Given the description of an element on the screen output the (x, y) to click on. 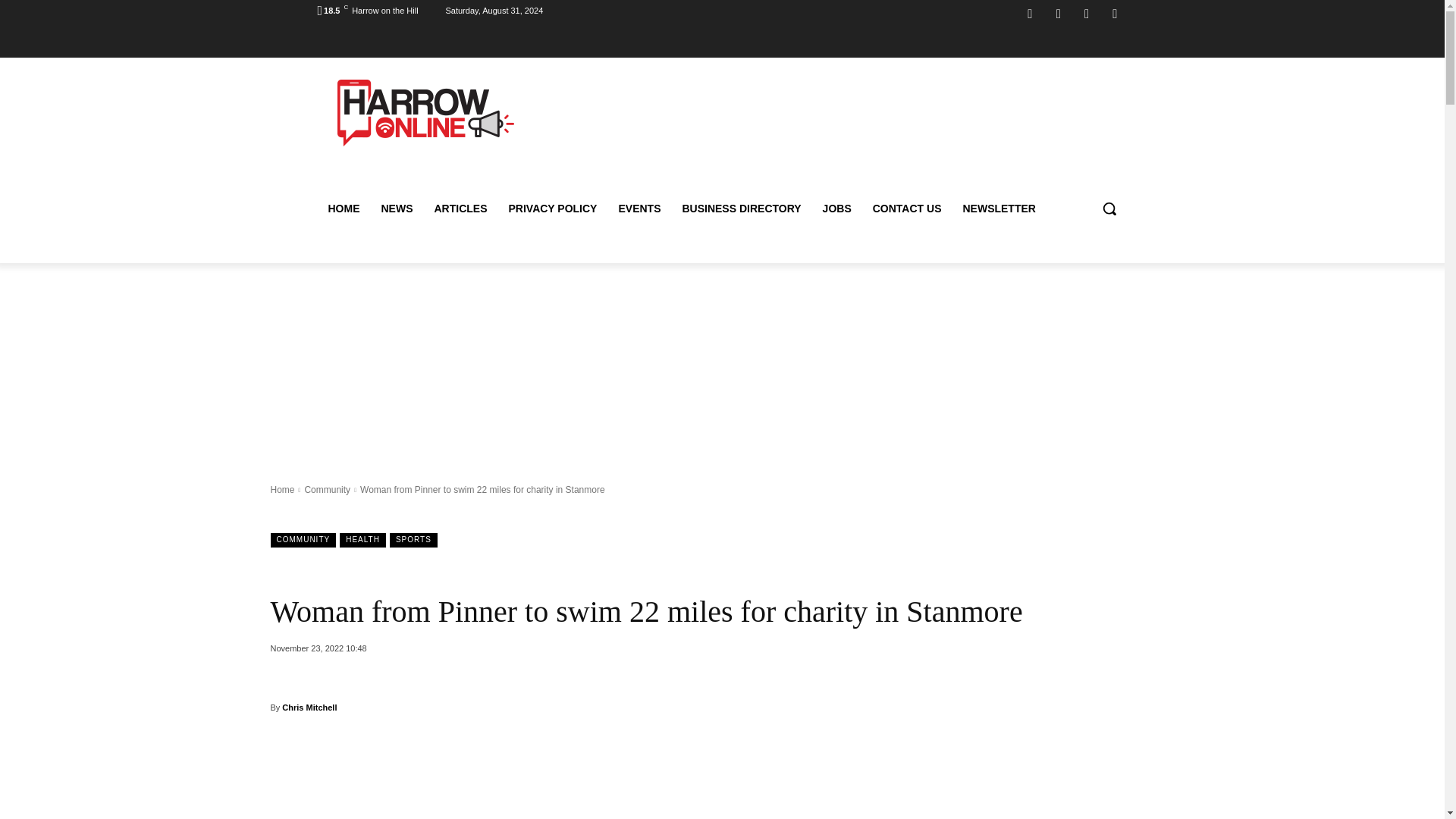
HOME (343, 208)
TikTok (1086, 13)
PRIVACY POLICY (552, 208)
EVENTS (639, 208)
Instagram (1058, 13)
Facebook (1029, 13)
ARTICLES (460, 208)
CONTACT US (906, 208)
JOBS (836, 208)
BUSINESS DIRECTORY (740, 208)
